Given the description of an element on the screen output the (x, y) to click on. 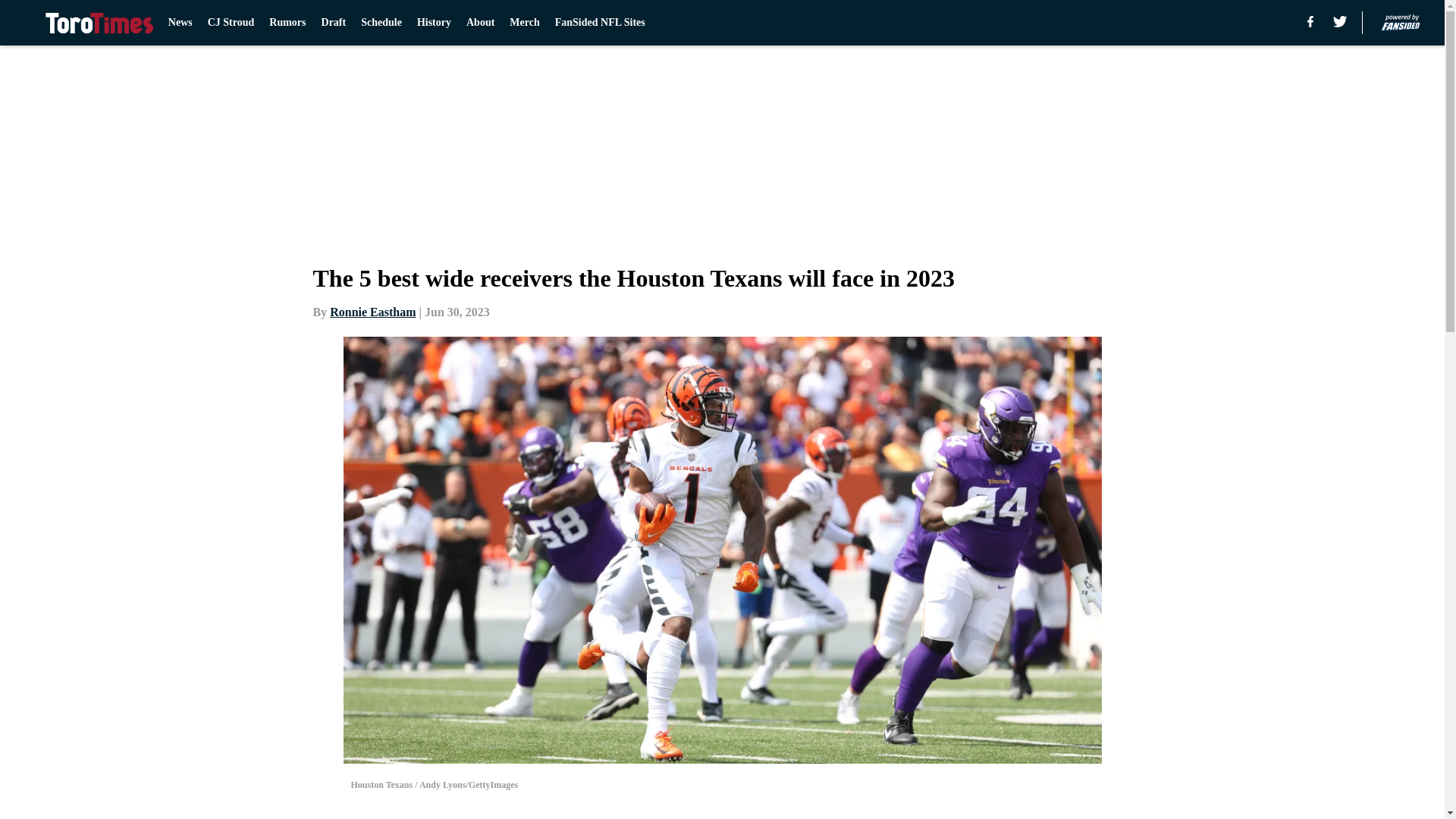
News (180, 22)
CJ Stroud (231, 22)
History (433, 22)
Ronnie Eastham (372, 311)
Merch (523, 22)
Schedule (381, 22)
FanSided NFL Sites (599, 22)
Rumors (287, 22)
About (480, 22)
Draft (333, 22)
